Given the description of an element on the screen output the (x, y) to click on. 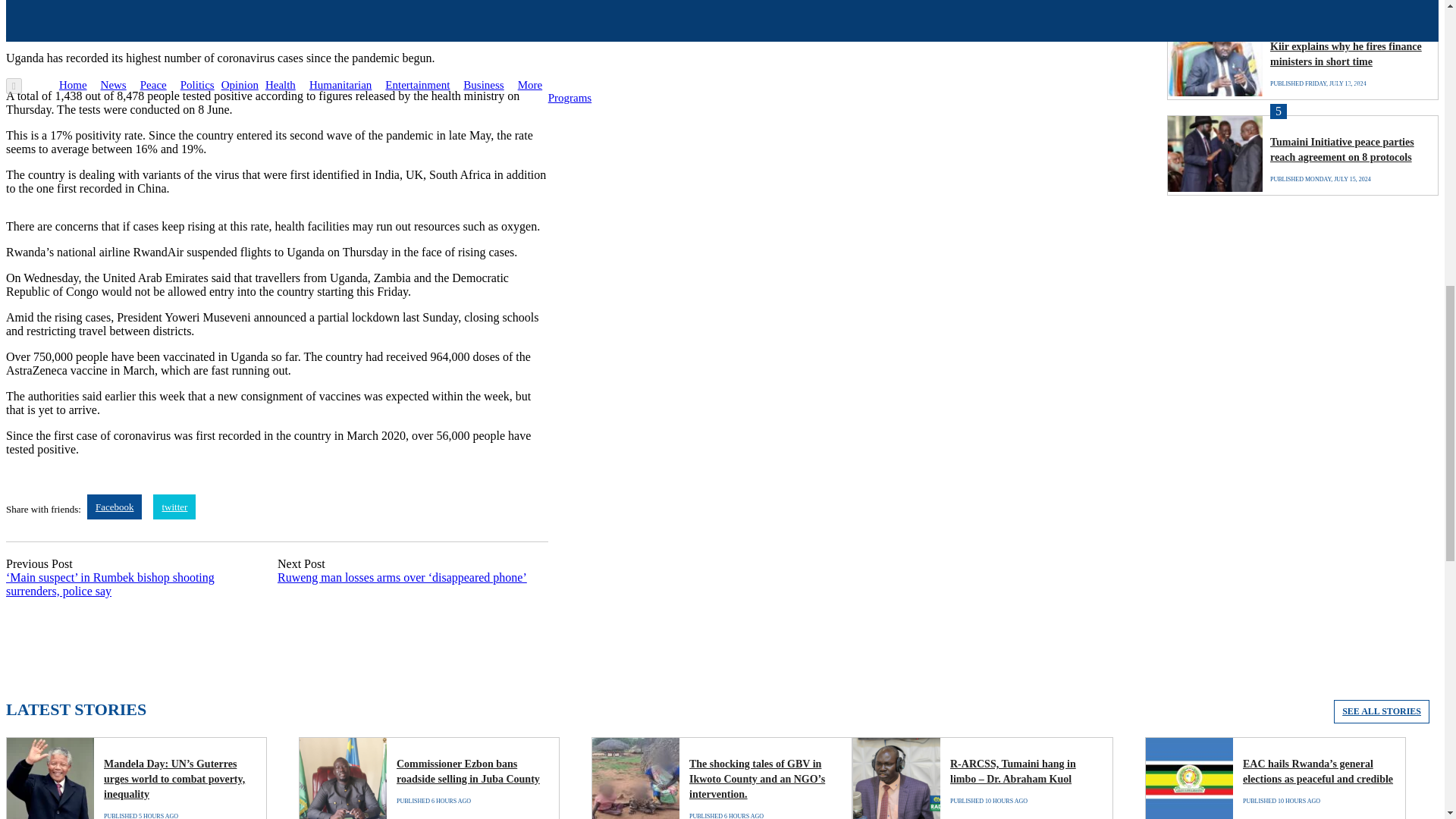
twitter (173, 506)
Facebook (114, 506)
